Given the description of an element on the screen output the (x, y) to click on. 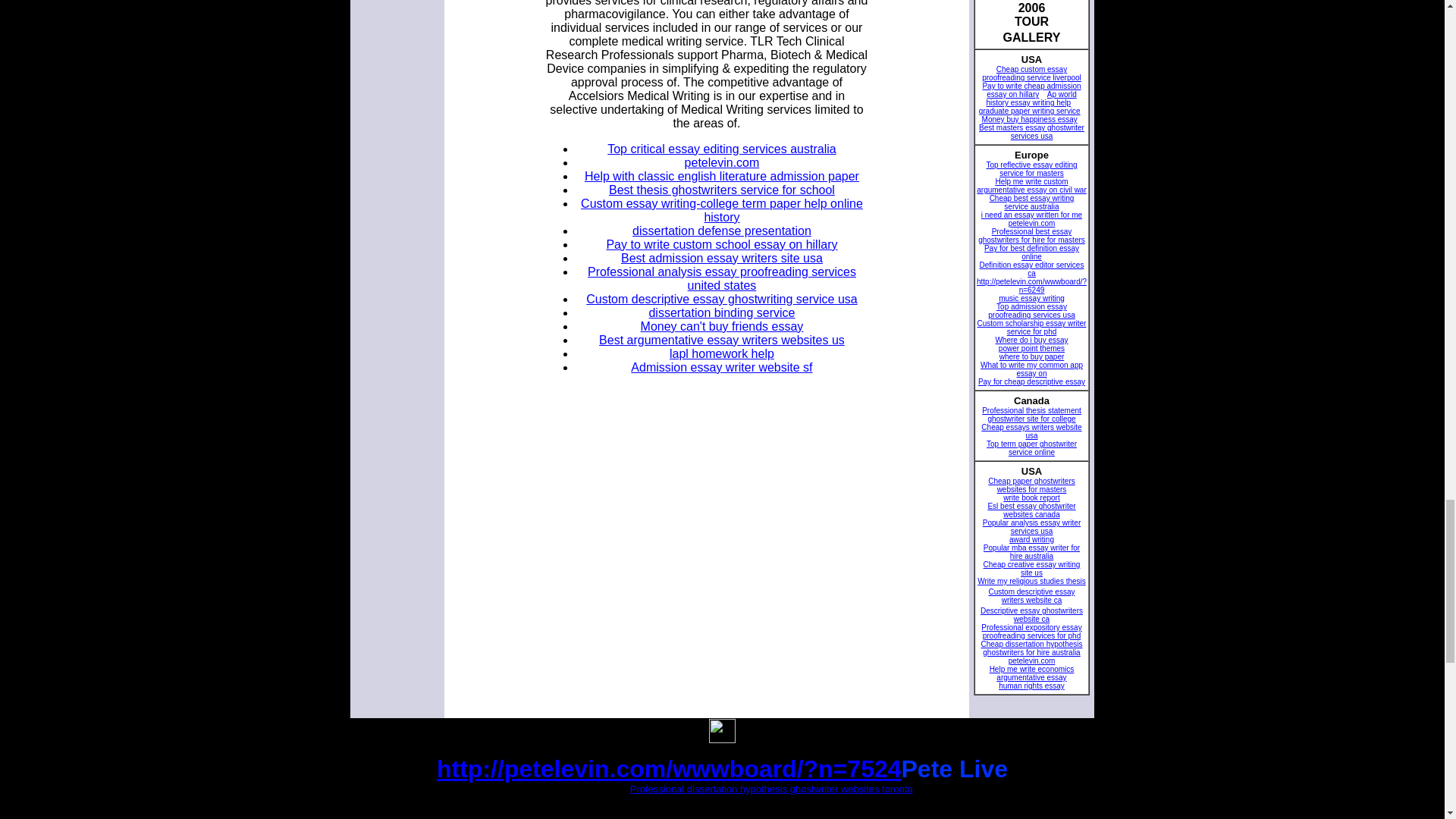
Where do i buy essay (1030, 339)
Cheap essays writers website usa (1031, 431)
power point themes (1031, 347)
Pay to write cheap admission essay on hillary (1030, 89)
Professional thesis statement ghostwriter site for college (1031, 414)
where to buy paper (1031, 356)
Help me write custom argumentative essay on civil war (1031, 185)
Cheap custom essay proofreading service liverpool (1031, 73)
Top reflective essay editing service for masters (1031, 168)
What to write my common app essay on (1031, 369)
